Given the description of an element on the screen output the (x, y) to click on. 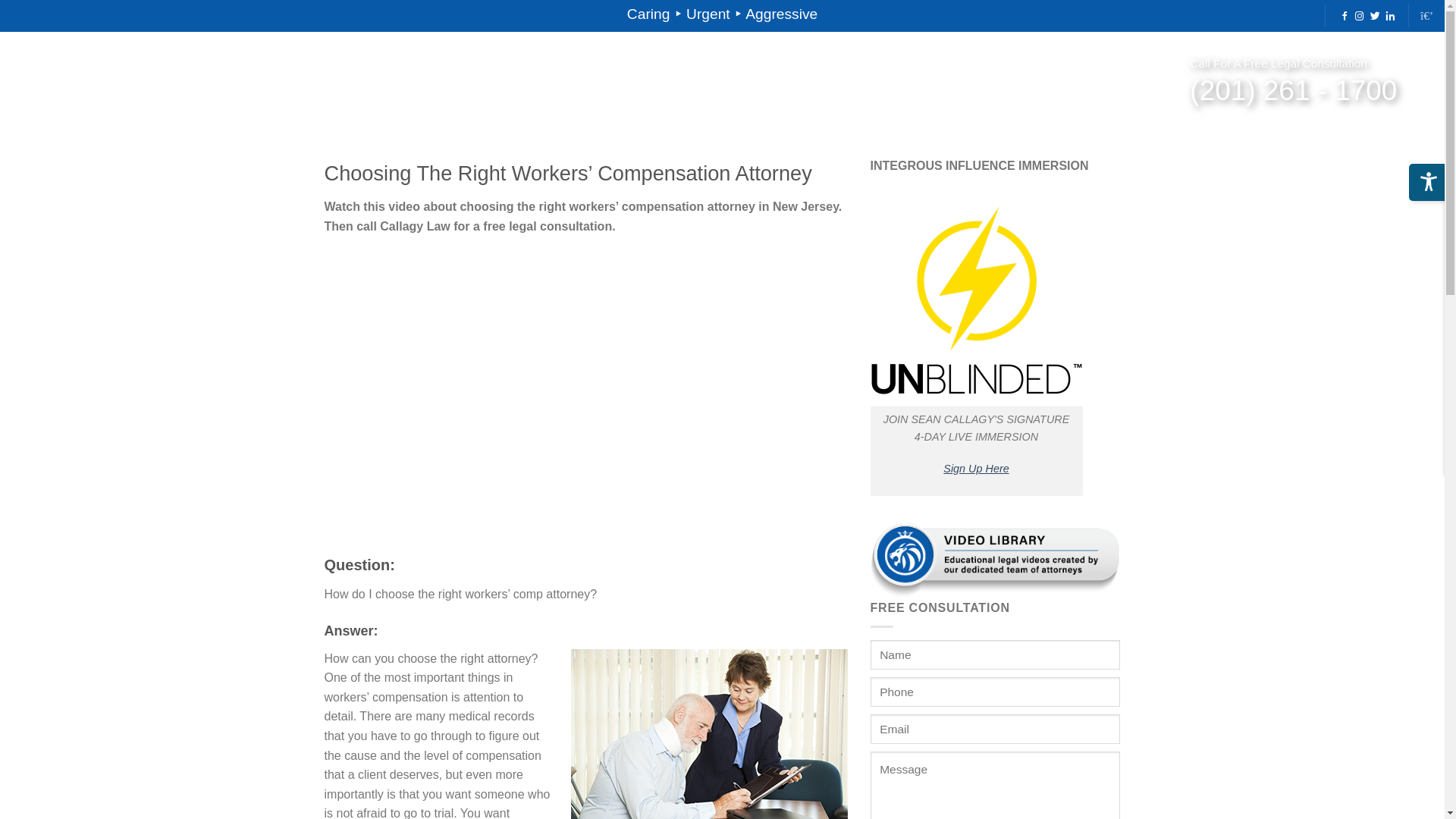
Other Practice Areas (398, 86)
Medical Revenue Recovery (246, 86)
